Given the description of an element on the screen output the (x, y) to click on. 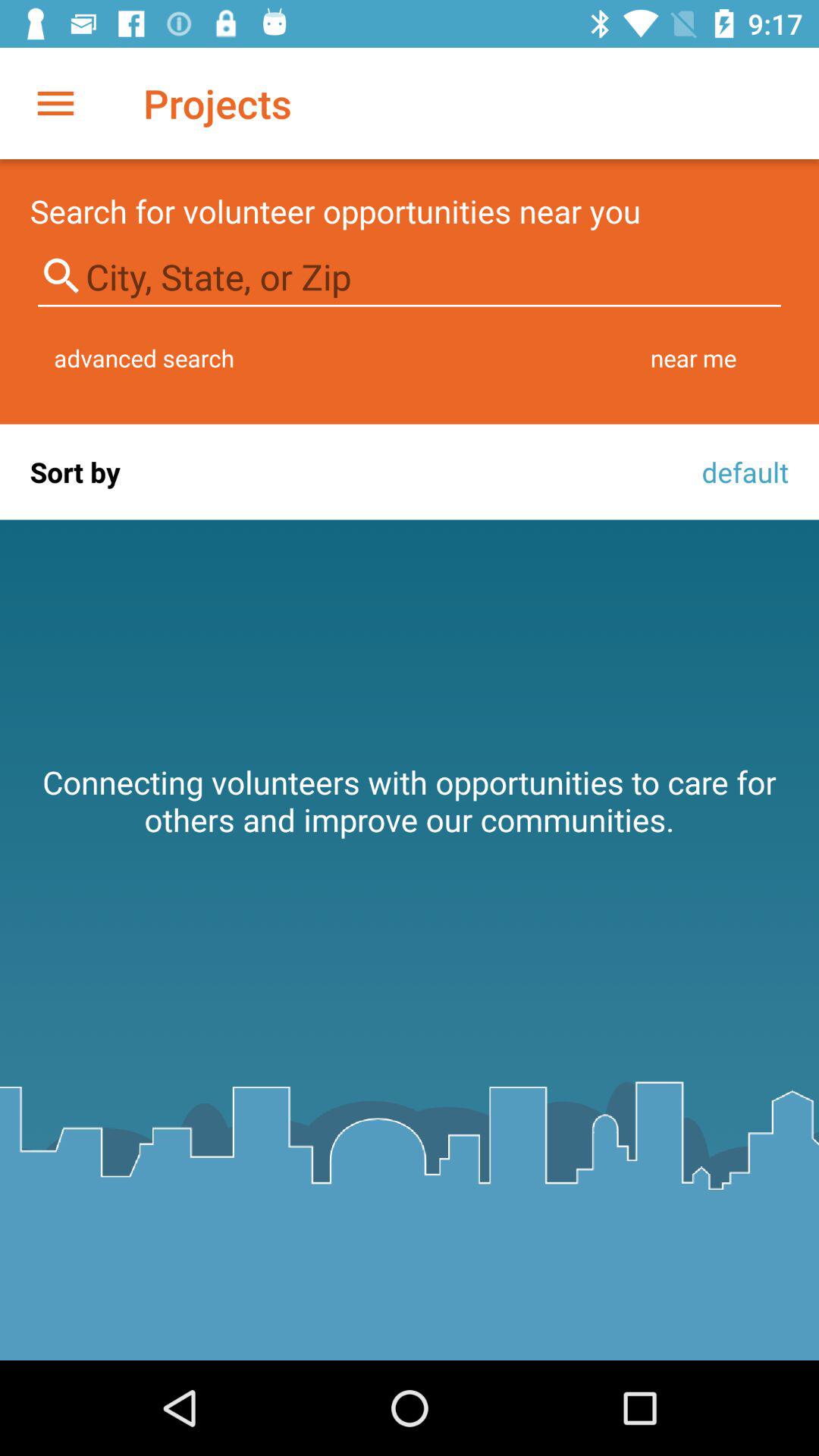
select the item above default icon (692, 358)
